Given the description of an element on the screen output the (x, y) to click on. 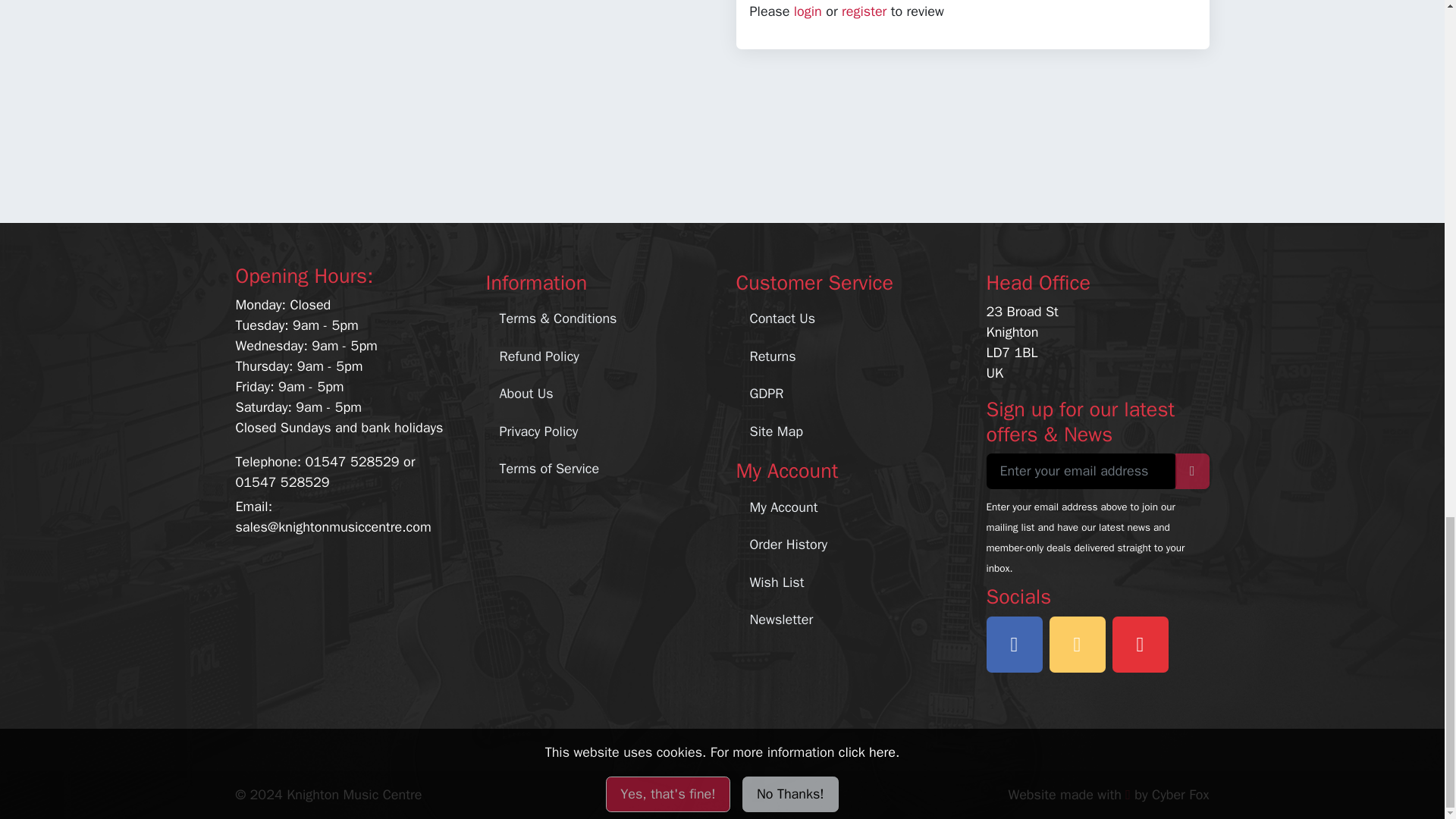
Ecommerce Website made with love by Cyber Fox (1107, 794)
